Given the description of an element on the screen output the (x, y) to click on. 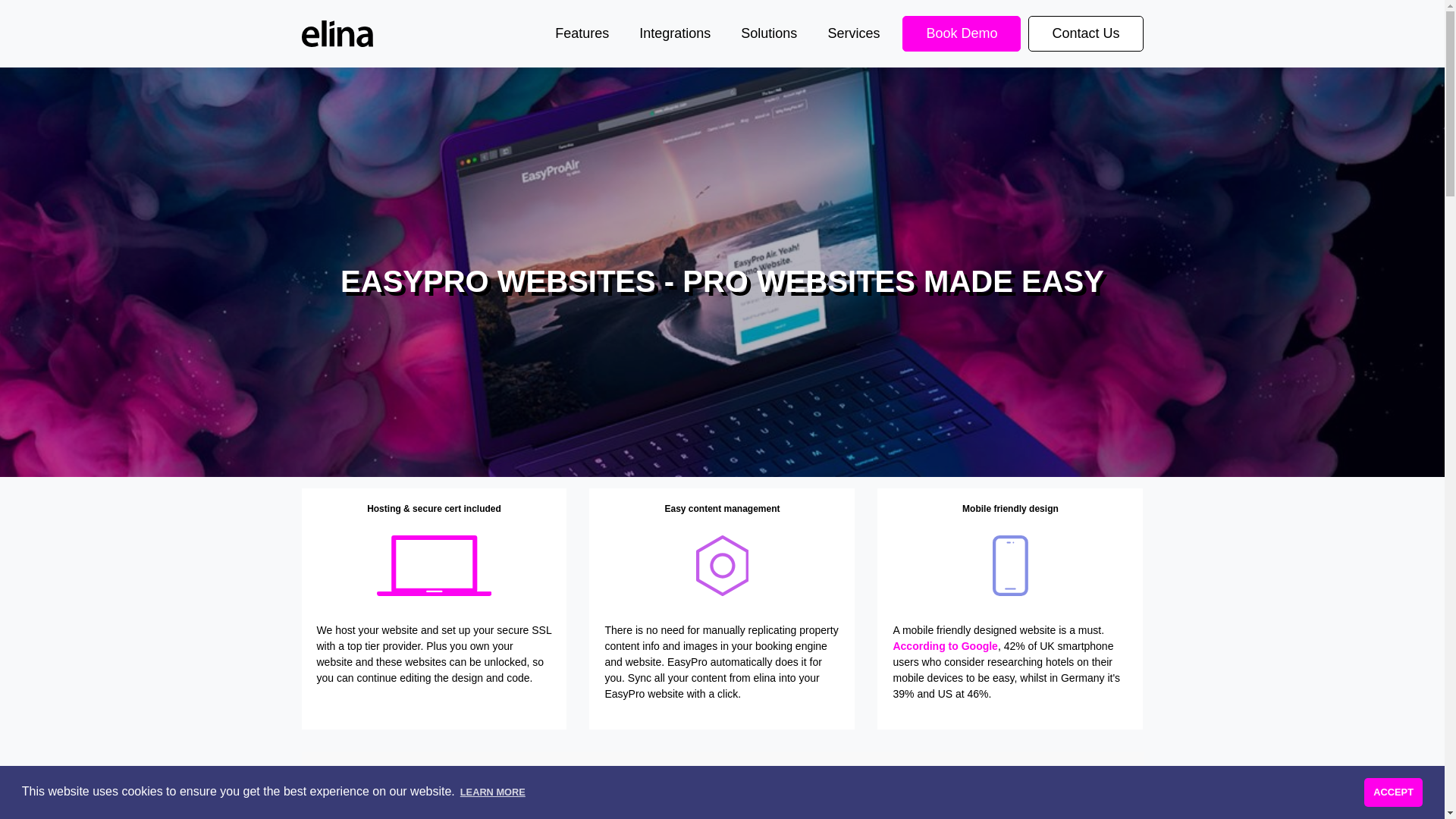
According to Google (944, 645)
Solutions (768, 33)
Services (853, 33)
Contact Us (1084, 33)
LEARN MORE (492, 792)
Features (582, 33)
Integrations (674, 33)
Book Demo (961, 33)
Book a demo (896, 810)
We'll show you. (896, 810)
ACCEPT (1393, 792)
